Given the description of an element on the screen output the (x, y) to click on. 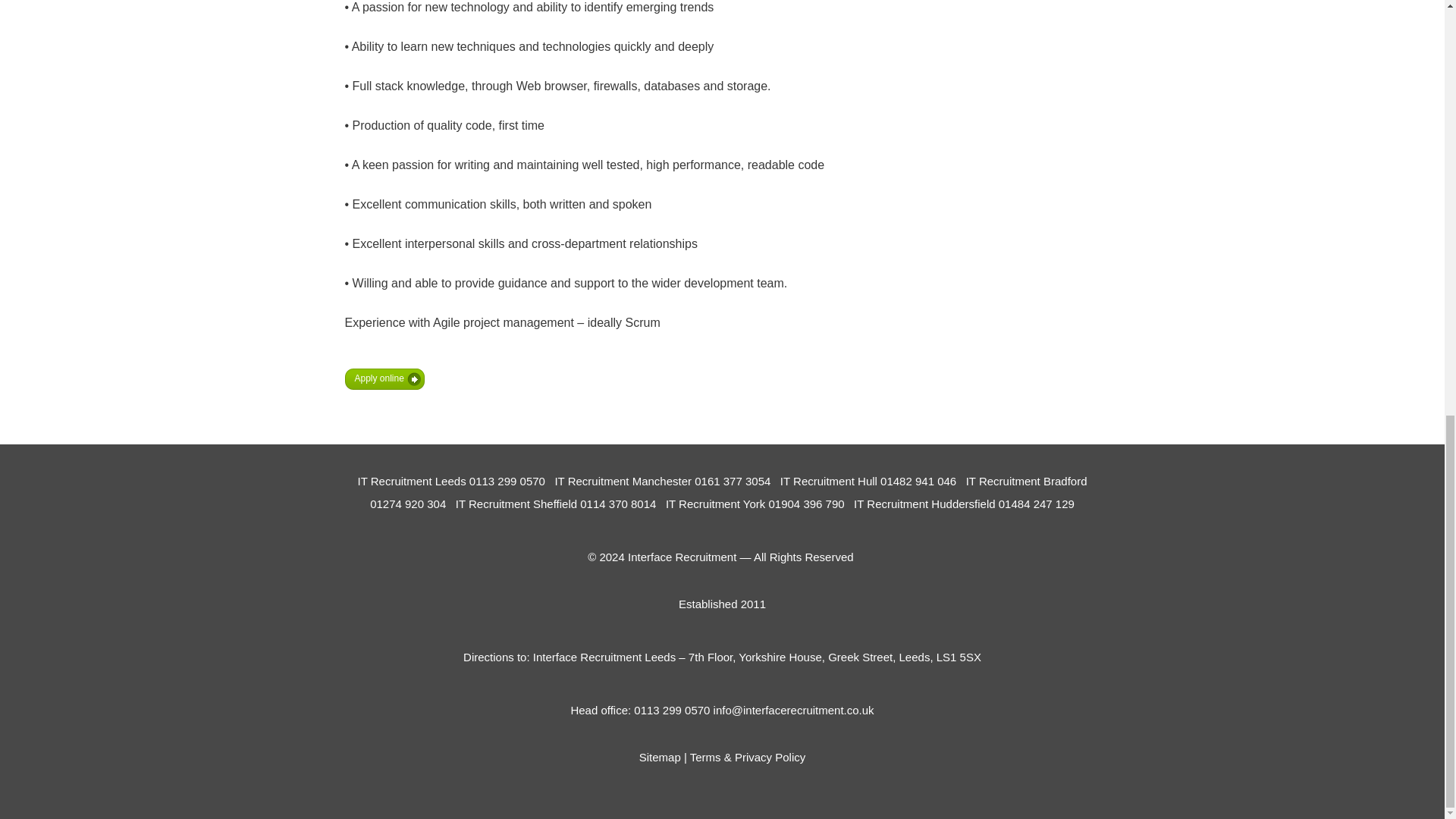
 IT Recruitment Hull 01482 941 046  (868, 481)
Apply online (383, 378)
IT Recruitment Manchester 0161 377 3054 (662, 481)
IT Recruitment Leeds 0113 299 0570 (453, 481)
